Given the description of an element on the screen output the (x, y) to click on. 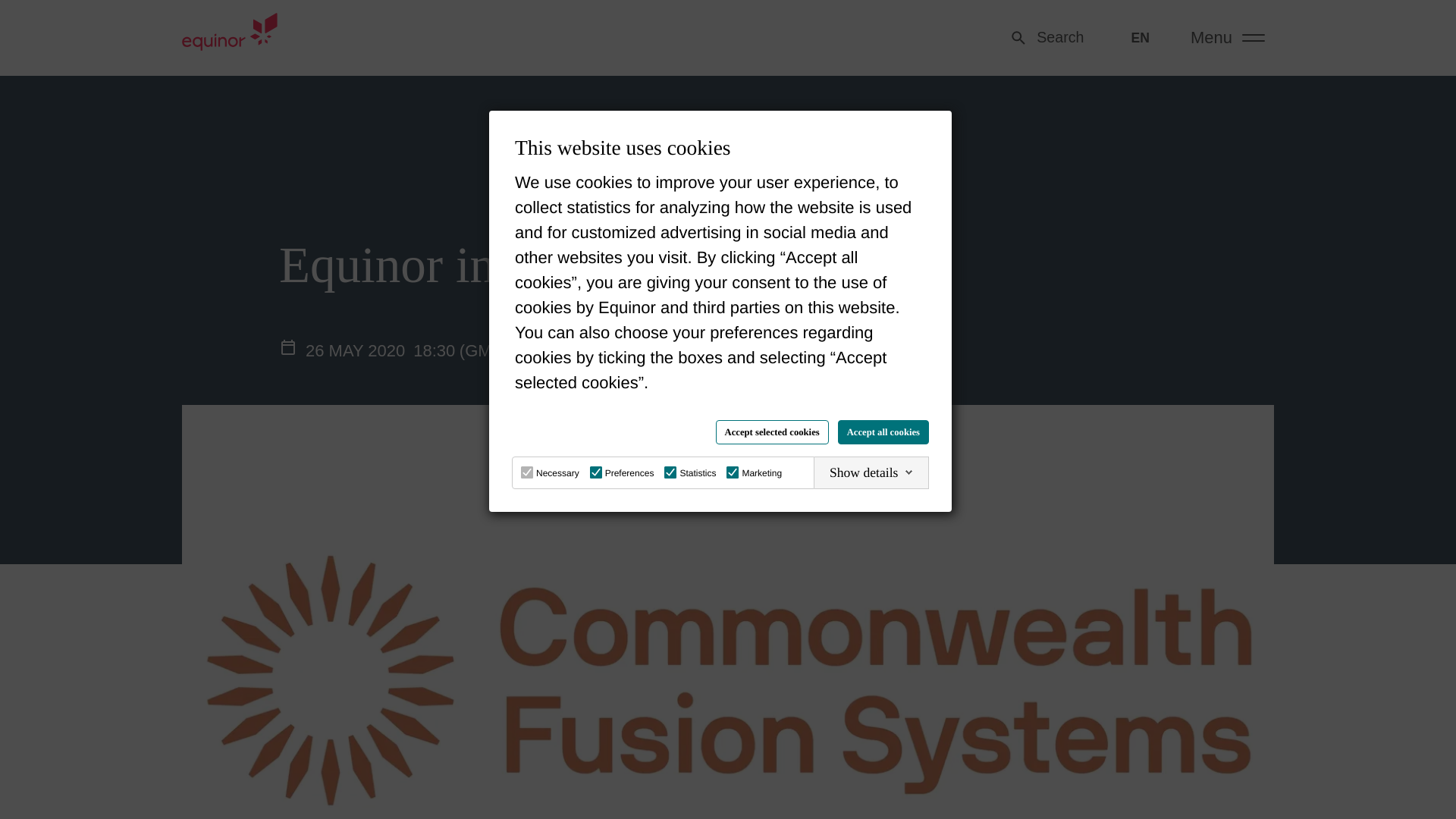
Accept selected cookies (772, 432)
Show details (871, 472)
Accept all cookies (883, 432)
